Given the description of an element on the screen output the (x, y) to click on. 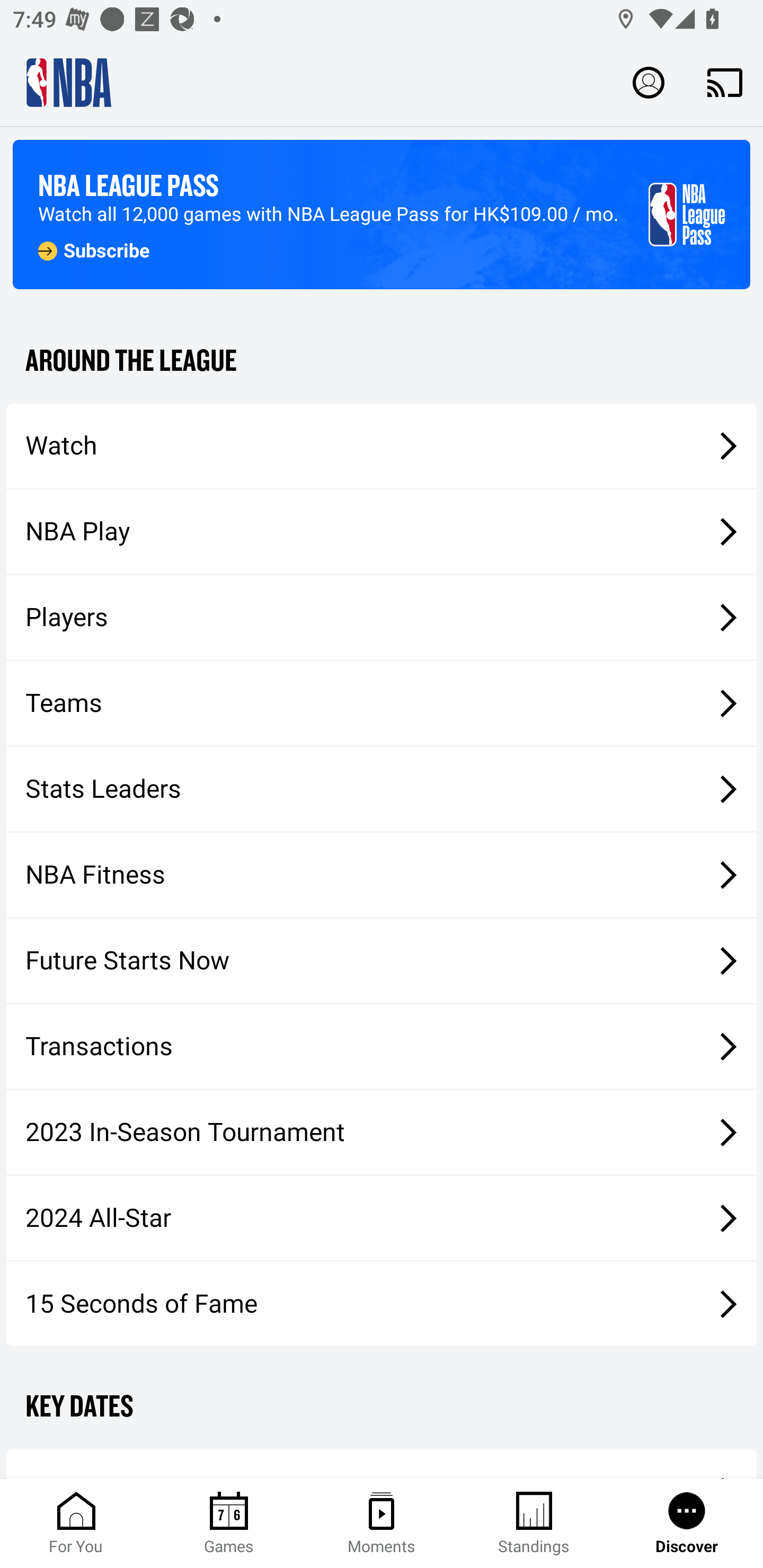
Cast. Disconnected (724, 82)
Profile (648, 81)
Watch (381, 444)
NBA Play (381, 531)
Players (381, 617)
Teams (381, 702)
Stats Leaders (381, 788)
NBA Fitness (381, 874)
Future Starts Now (381, 960)
Transactions (381, 1046)
2023 In-Season Tournament (381, 1131)
2024 All-Star (381, 1218)
15 Seconds of Fame (381, 1303)
For You (76, 1523)
Games (228, 1523)
Moments (381, 1523)
Standings (533, 1523)
